Given the description of an element on the screen output the (x, y) to click on. 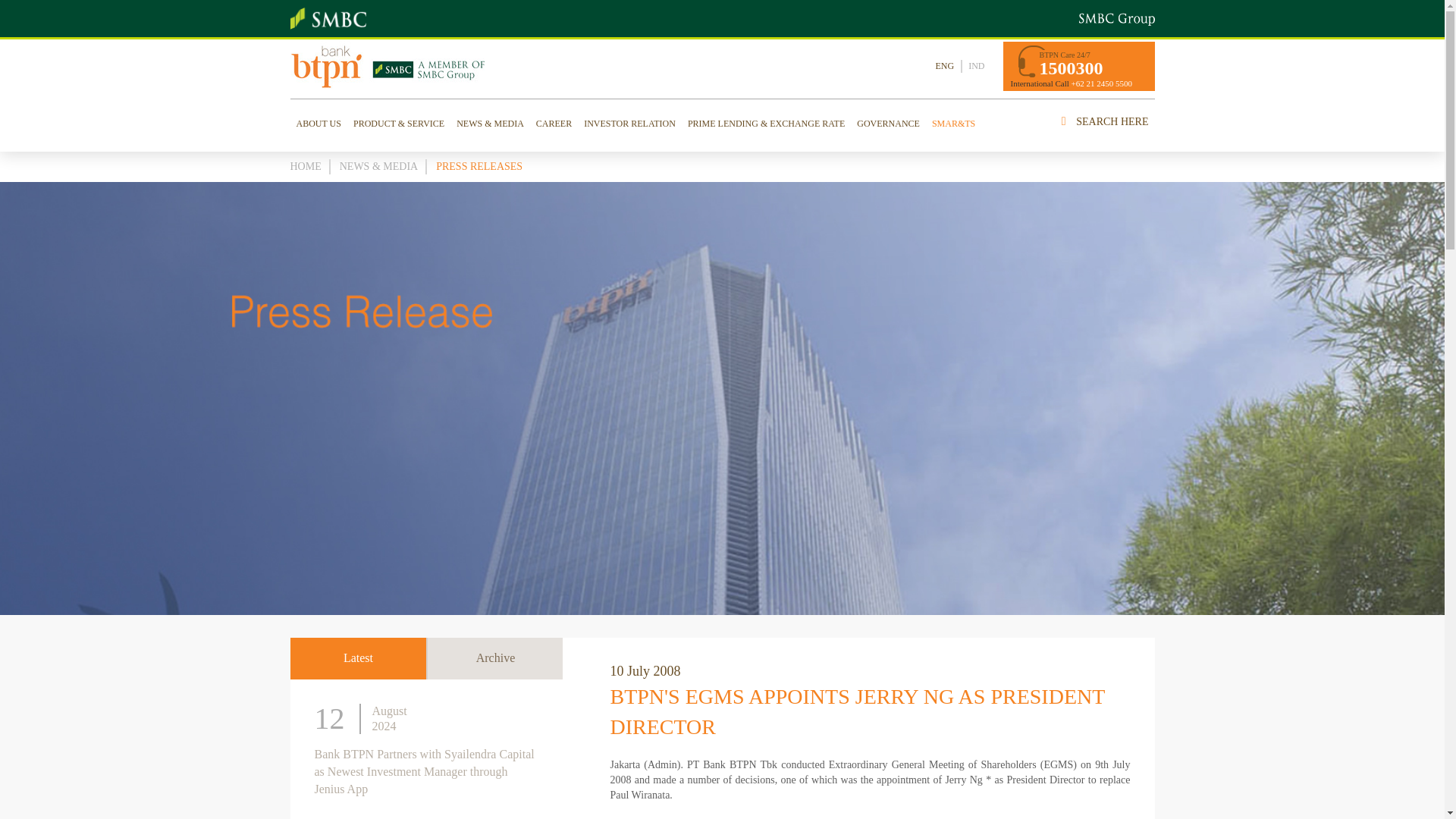
IND (976, 65)
ENG (945, 65)
ABOUT US (317, 123)
